Given the description of an element on the screen output the (x, y) to click on. 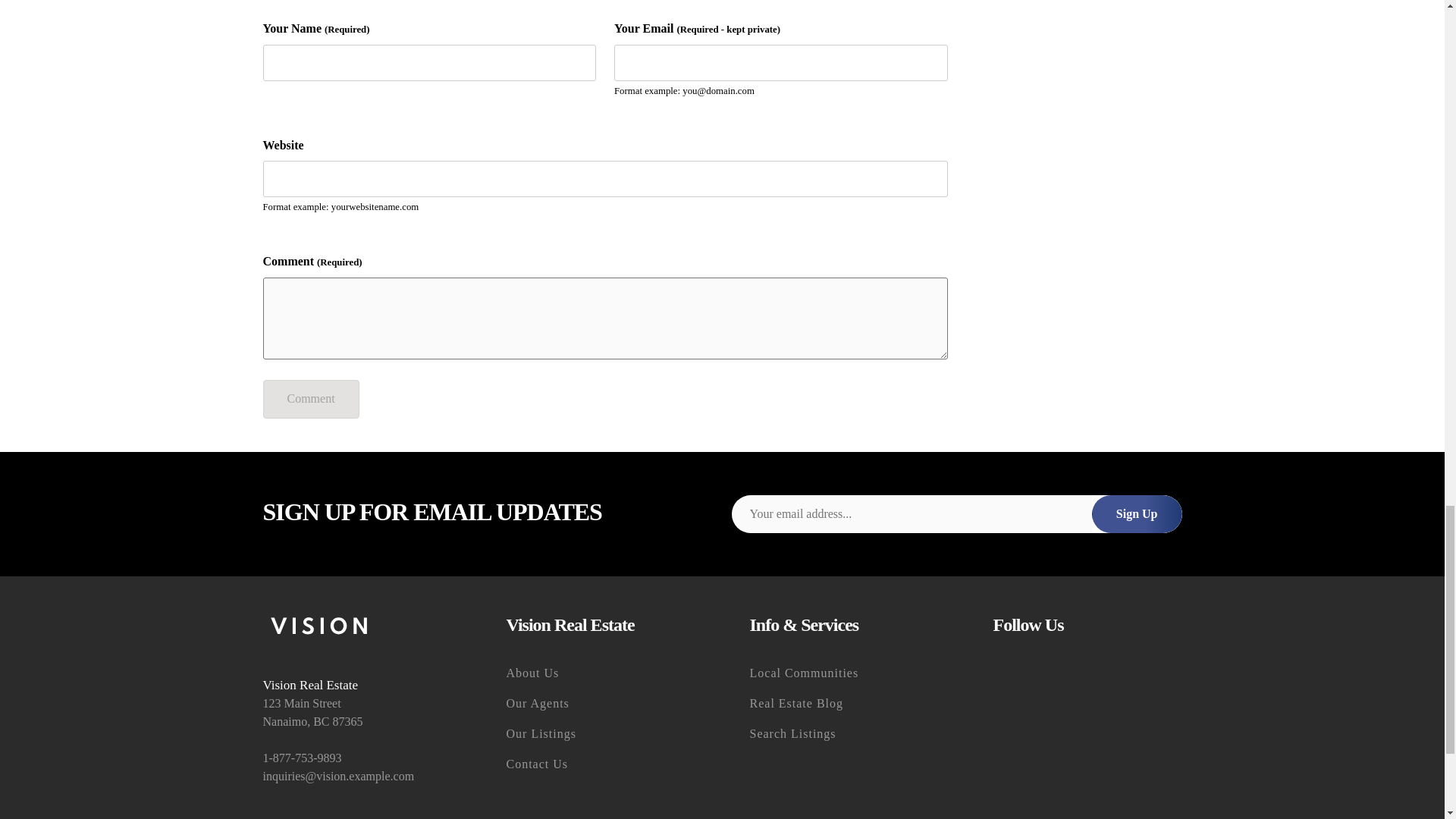
Search Listings (843, 734)
Local Communities (843, 673)
Go to homepage (356, 627)
Our Agents (600, 703)
Real Estate Blog (843, 703)
Sign Up (1137, 513)
Our Listings (600, 734)
1-877-753-9893 (356, 758)
About Us (600, 673)
Comment (310, 398)
